Given the description of an element on the screen output the (x, y) to click on. 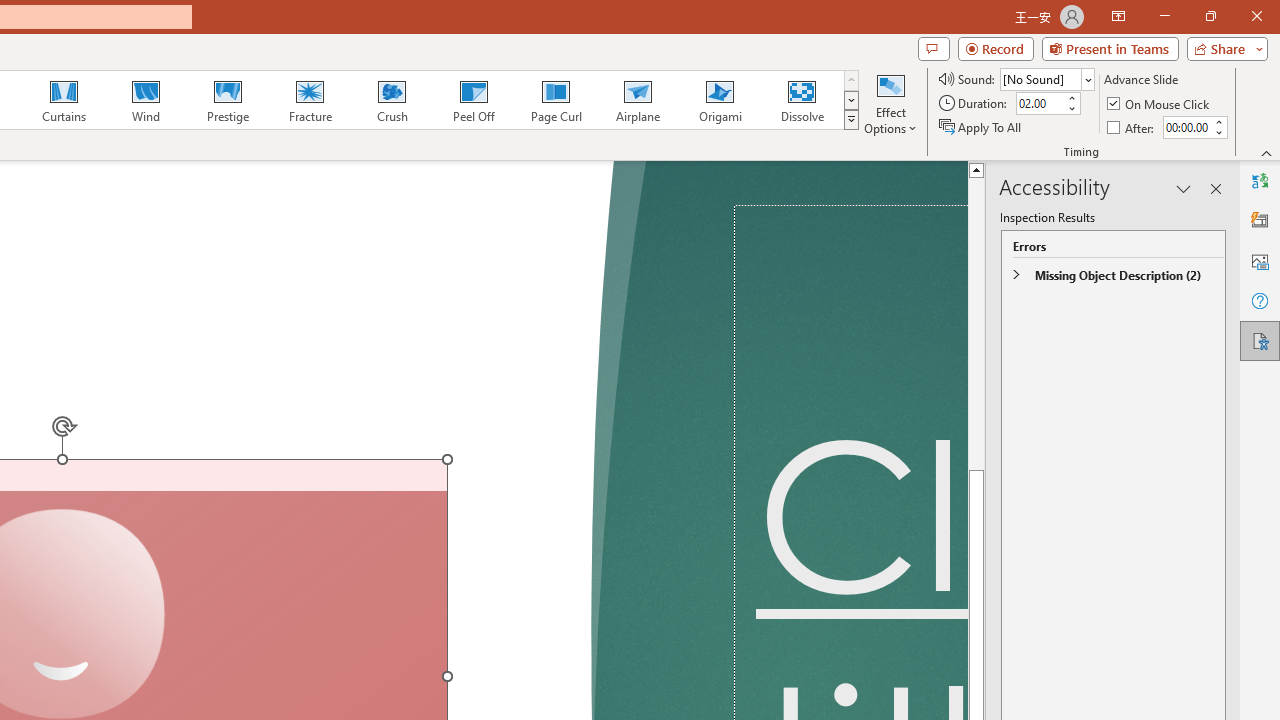
Duration (1039, 103)
Transition Effects (850, 120)
Page Curl (555, 100)
Wind (145, 100)
Prestige (227, 100)
Origami (719, 100)
